Given the description of an element on the screen output the (x, y) to click on. 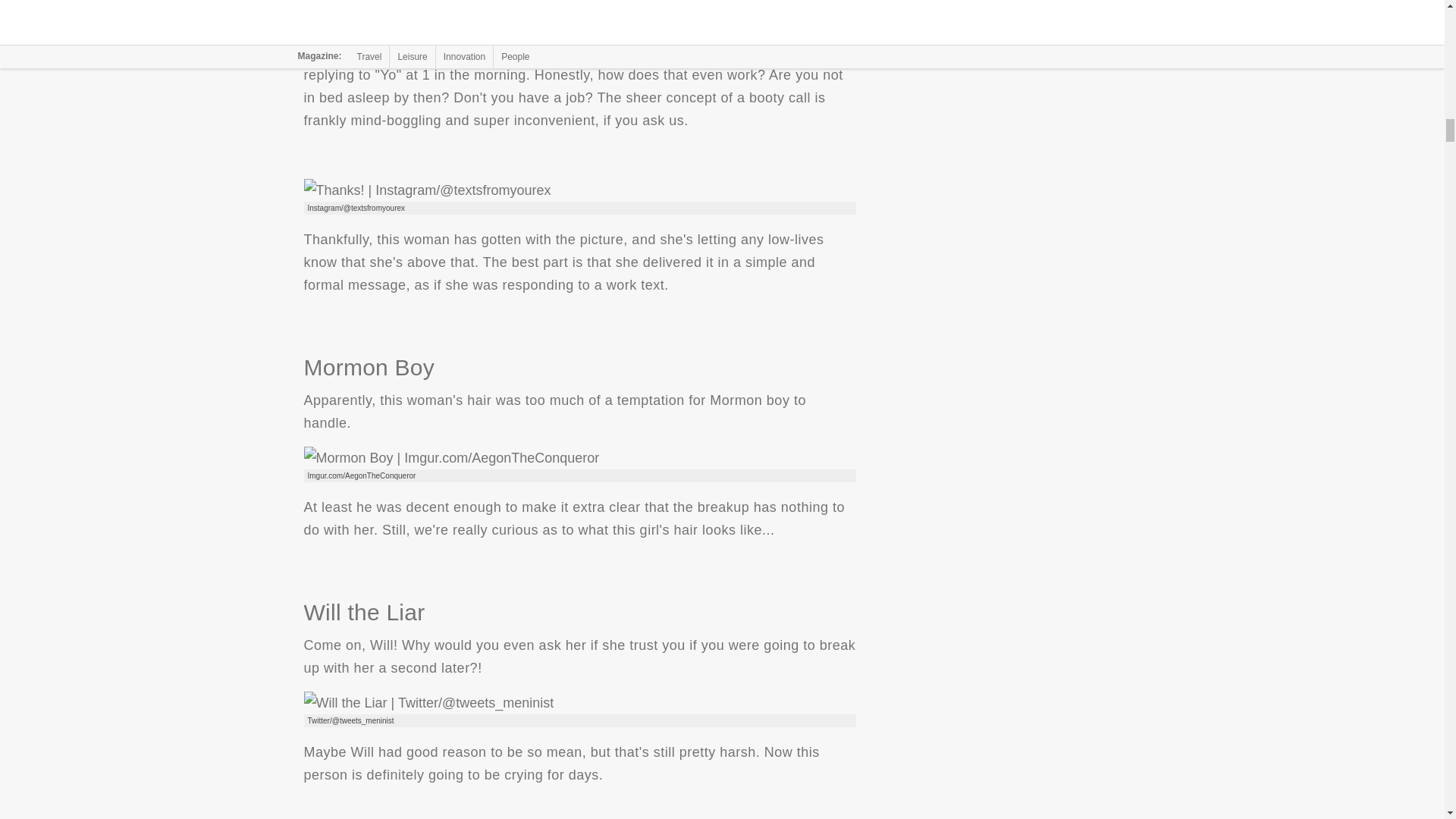
Thanks! (426, 190)
Mormon Boy (450, 457)
Will the Liar (427, 702)
